Given the description of an element on the screen output the (x, y) to click on. 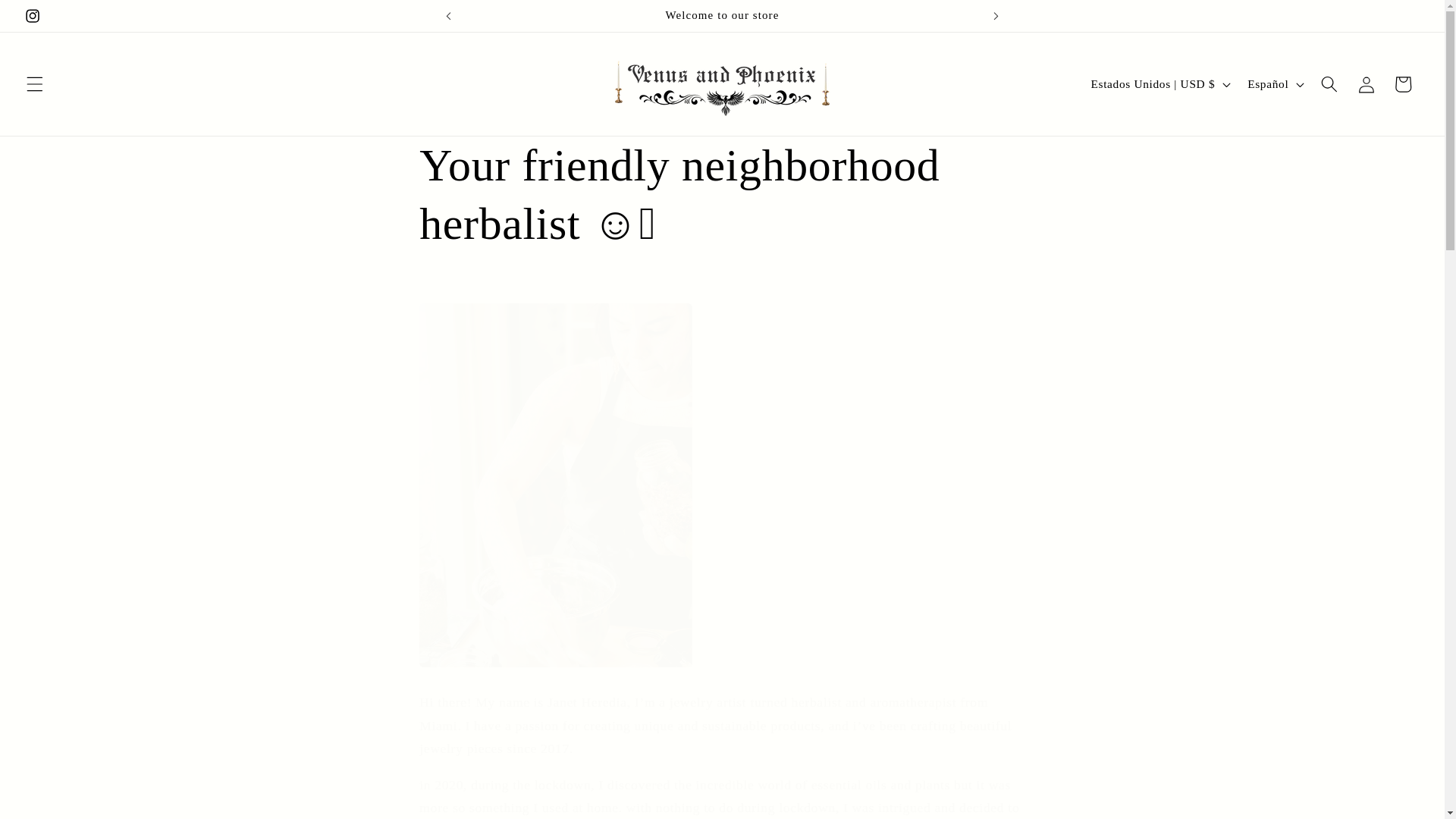
Instagram (32, 15)
Ir directamente al contenido (50, 19)
